Given the description of an element on the screen output the (x, y) to click on. 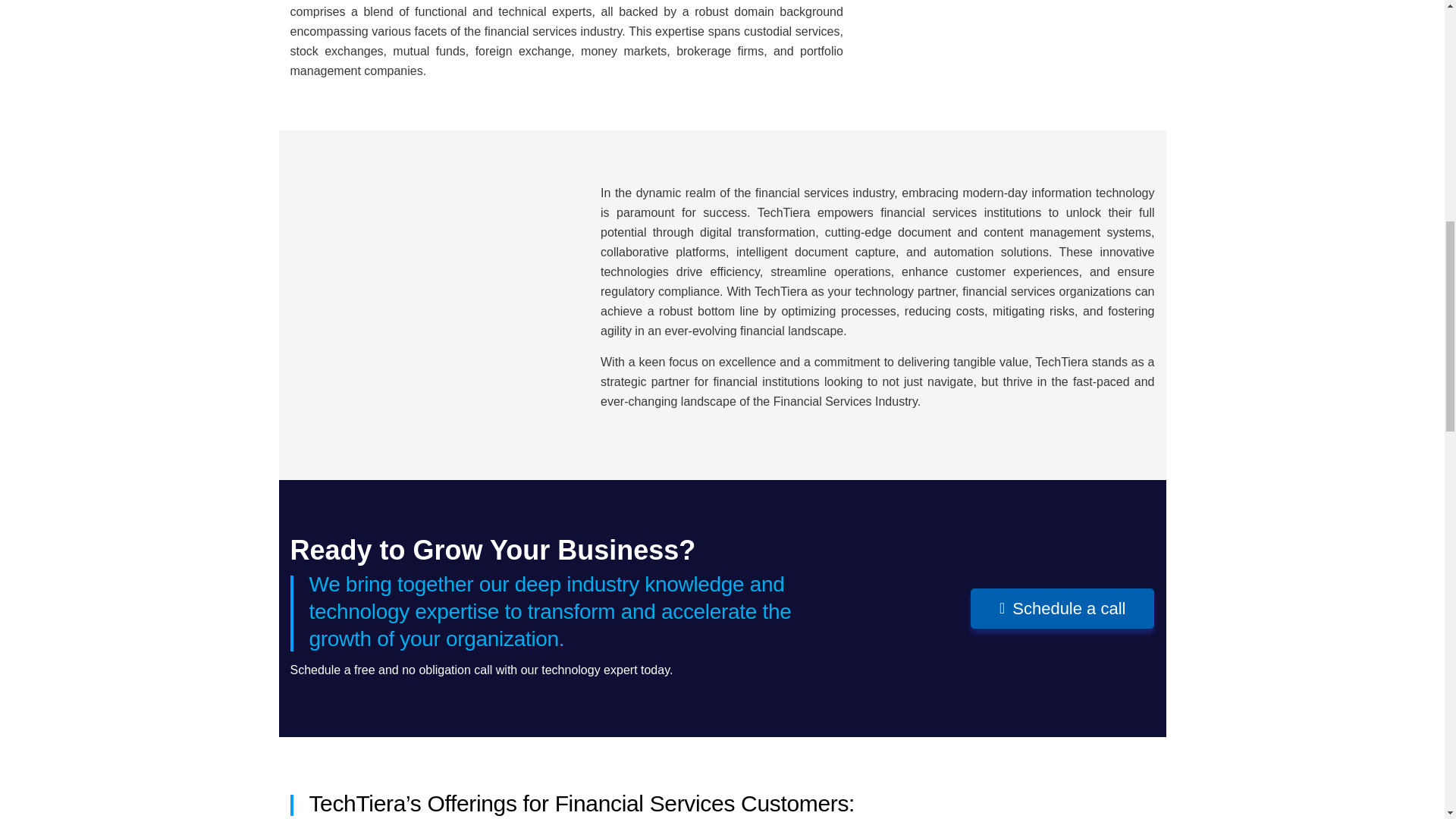
Financial Services 2 (433, 305)
